Given the description of an element on the screen output the (x, y) to click on. 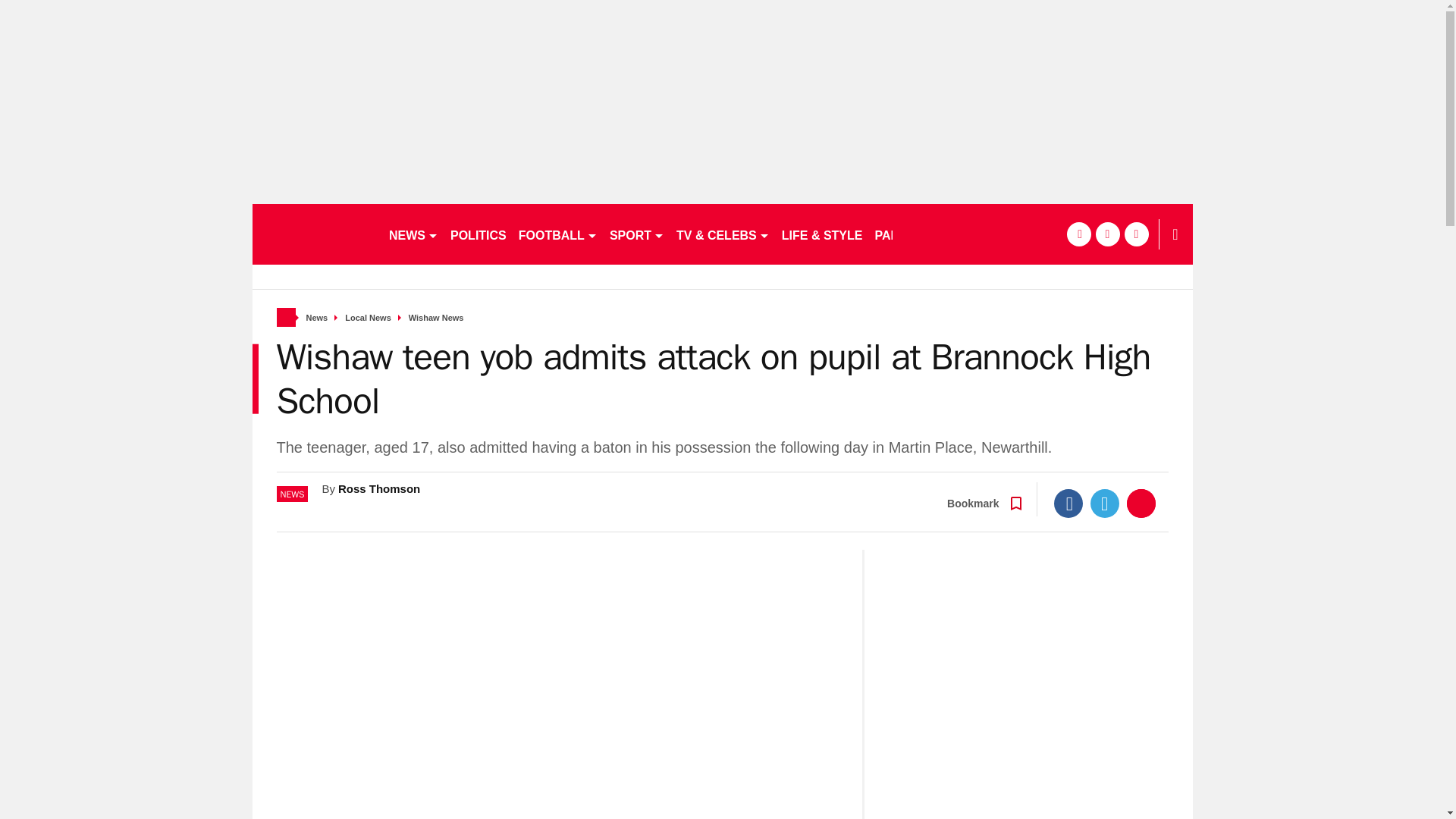
NEWS (413, 233)
instagram (1136, 233)
dailyrecord (313, 233)
FOOTBALL (558, 233)
Facebook (1068, 502)
twitter (1106, 233)
SPORT (636, 233)
POLITICS (478, 233)
Twitter (1104, 502)
facebook (1077, 233)
